Given the description of an element on the screen output the (x, y) to click on. 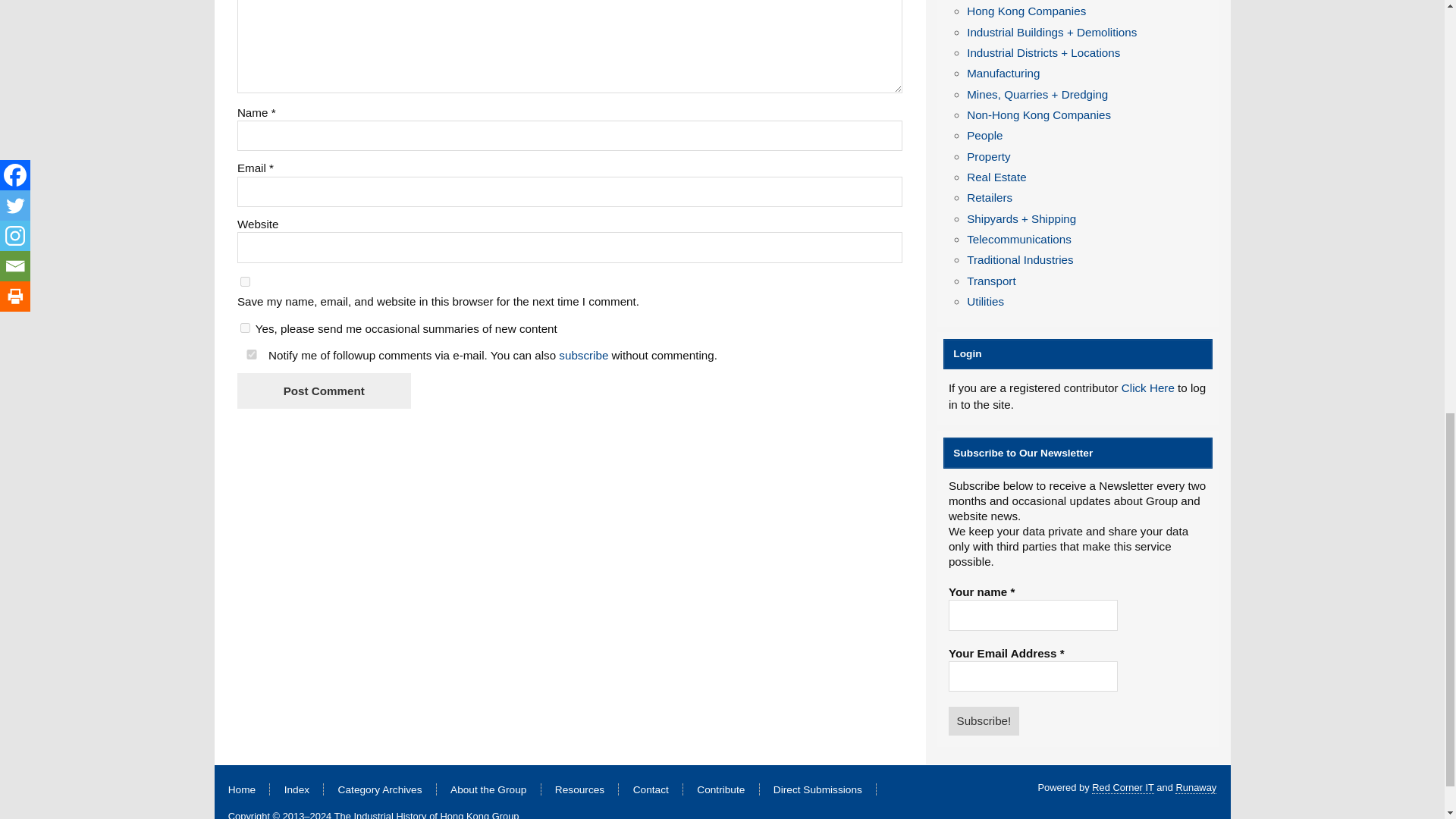
Post Comment (323, 390)
Post Comment (323, 390)
1 (245, 327)
Subscribe! (984, 720)
subscribe (583, 354)
yes (251, 354)
yes (245, 281)
